Given the description of an element on the screen output the (x, y) to click on. 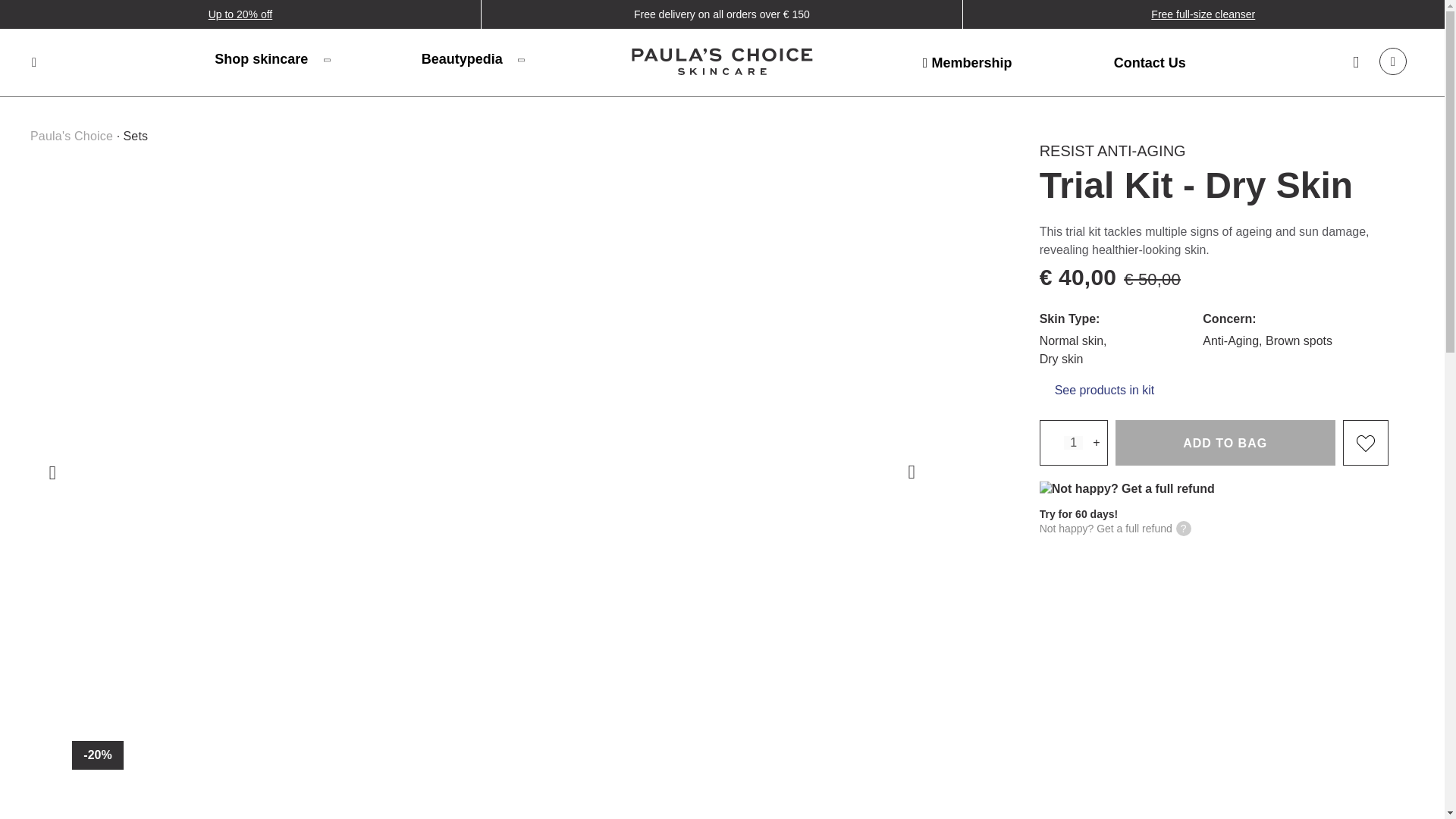
Edit shopping bag (1392, 61)
Become a member (967, 62)
Shop skincare (272, 58)
Free full-size cleanser (1203, 14)
Back to Homepage (721, 64)
1 (1073, 442)
Search (33, 62)
Go to Sets (135, 135)
